Given the description of an element on the screen output the (x, y) to click on. 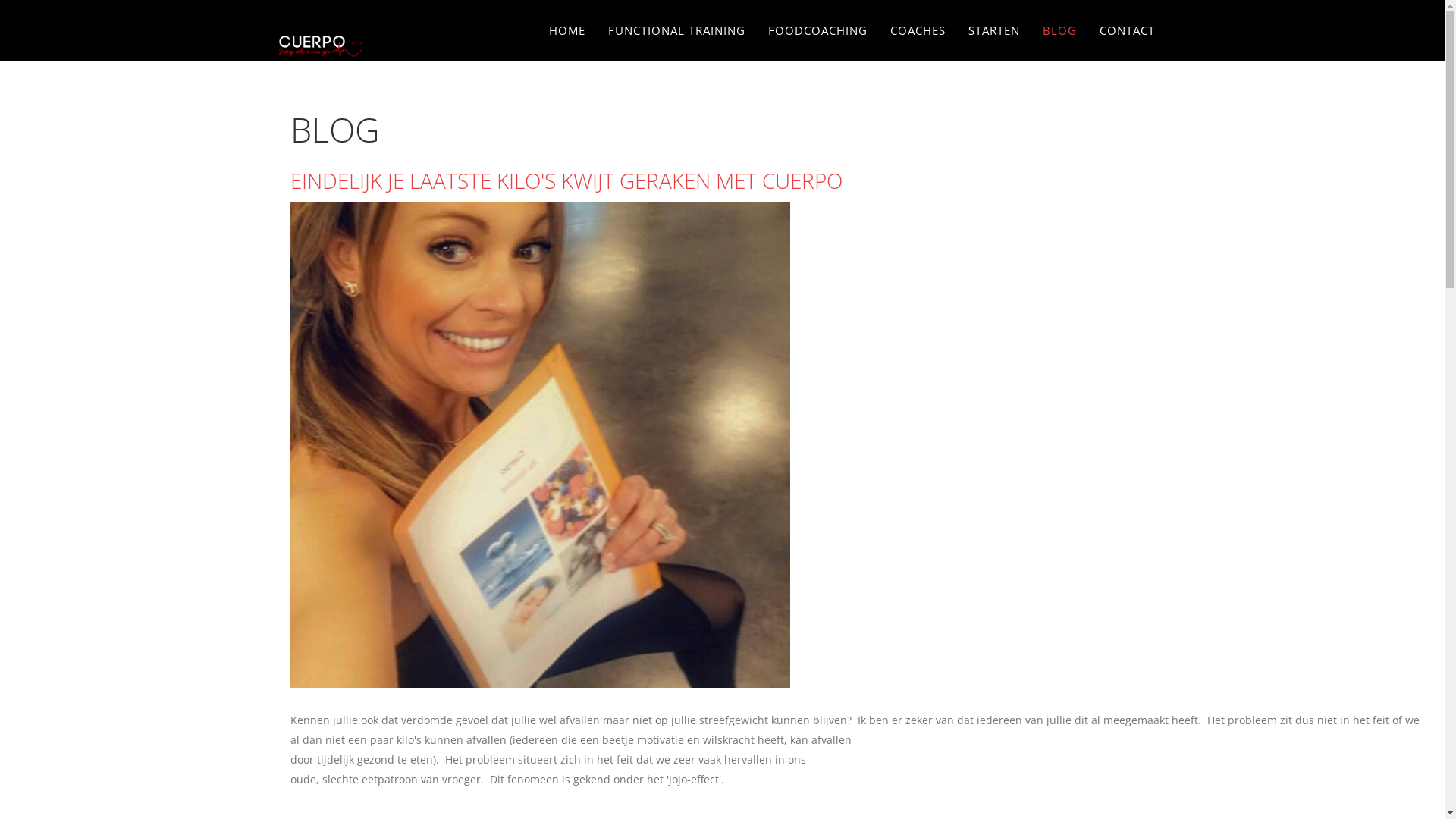
COACHES Element type: text (917, 30)
FOODCOACHING Element type: text (817, 30)
STARTEN Element type: text (994, 30)
CONTACT Element type: text (1126, 30)
FUNCTIONAL TRAINING Element type: text (676, 30)
HOME Element type: text (566, 30)
BLOG Element type: text (1059, 30)
